Given the description of an element on the screen output the (x, y) to click on. 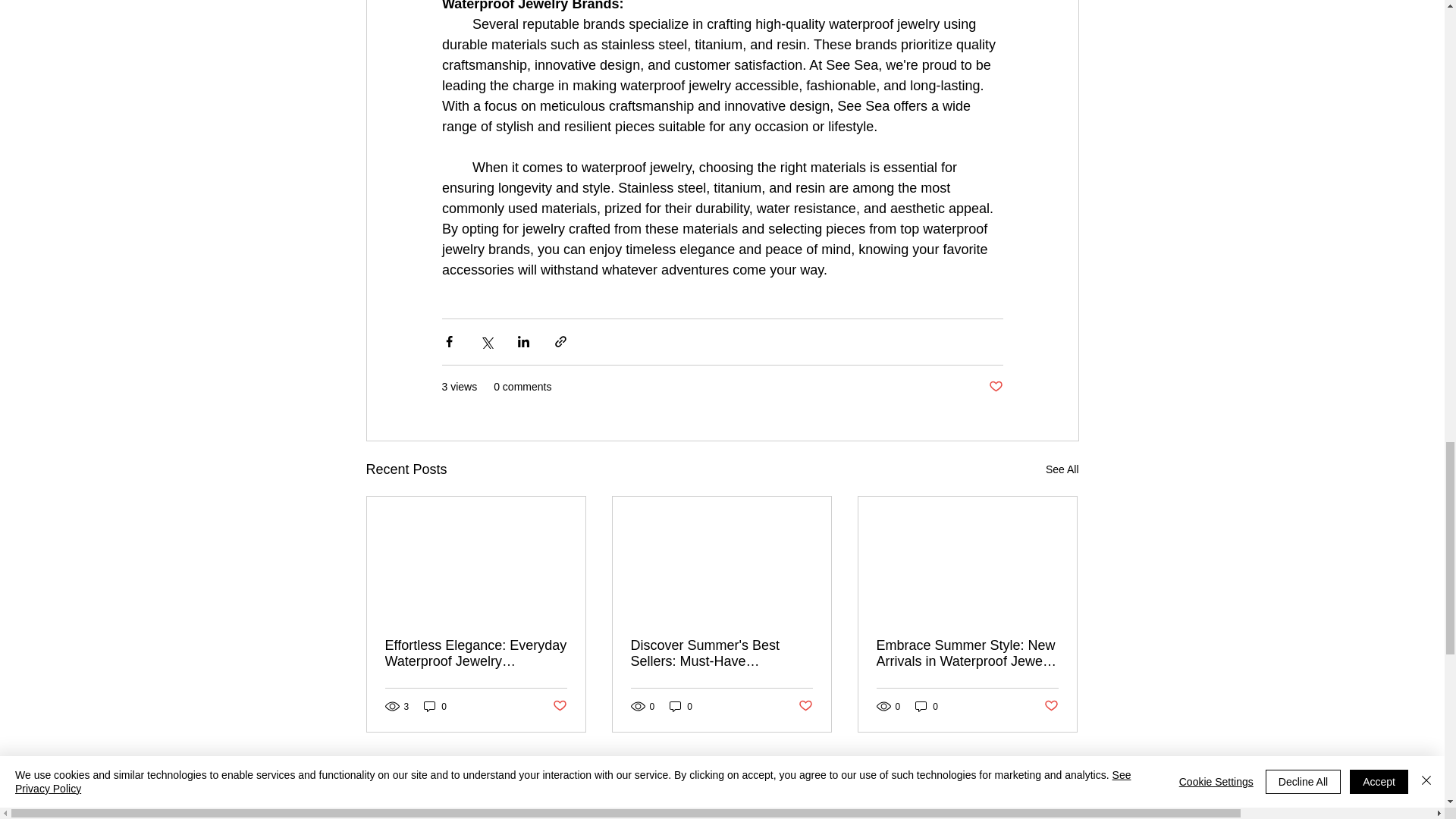
See All (1061, 469)
Post not marked as liked (995, 386)
Effortless Elegance: Everyday Waterproof Jewelry Essentials (476, 653)
